Given the description of an element on the screen output the (x, y) to click on. 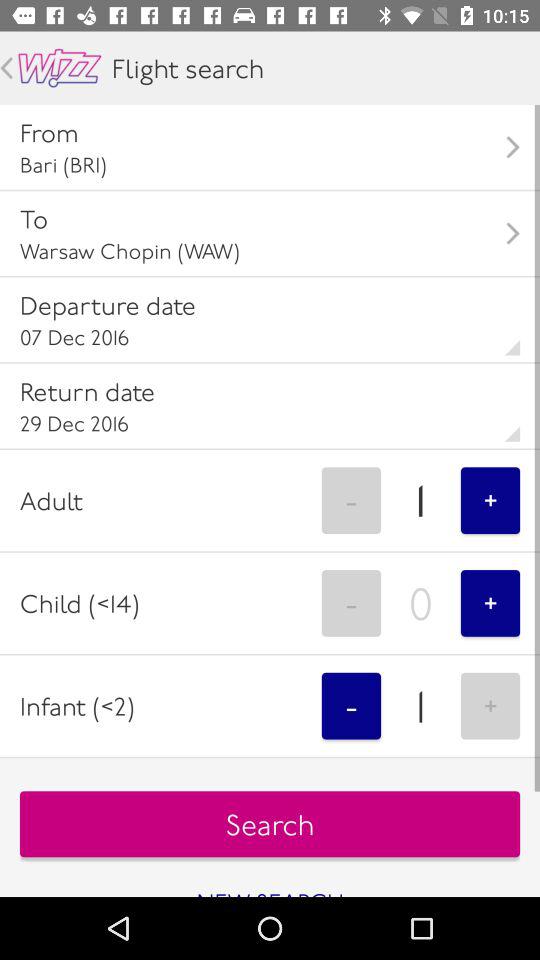
back to home page (59, 68)
